Given the description of an element on the screen output the (x, y) to click on. 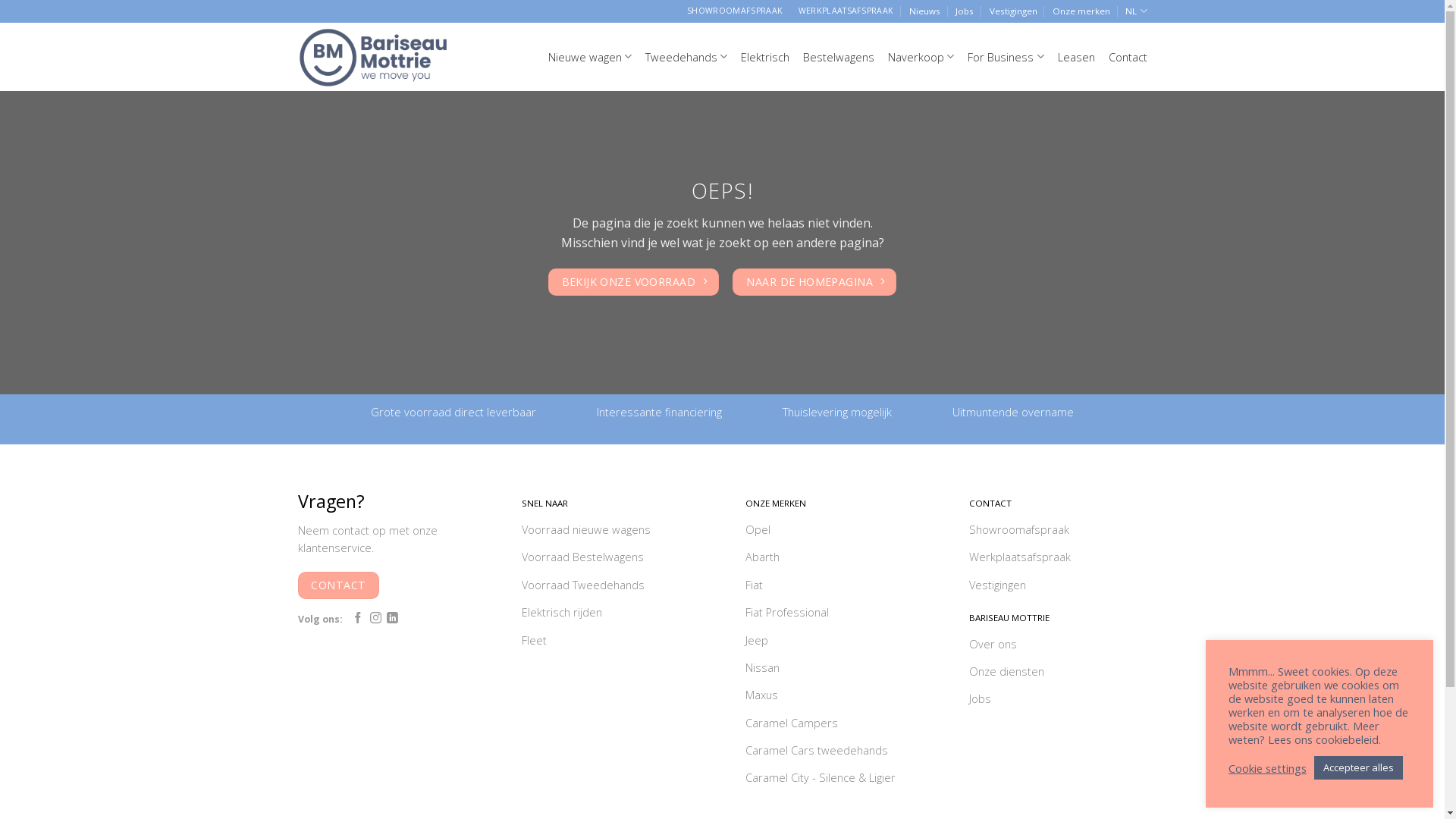
Showroomafspraak Element type: text (1058, 531)
Voorraad Tweedehands Element type: text (610, 585)
Fleet Element type: text (610, 641)
SHOWROOMAFSPRAAK Element type: text (734, 10)
Accepteer alles Element type: text (1358, 767)
Follow on LinkedIn Element type: hover (392, 618)
Maxus Element type: text (833, 696)
Over ons Element type: text (1058, 644)
Fiat Element type: text (833, 585)
Jobs Element type: text (964, 11)
Contact Element type: text (1127, 56)
NAAR DE HOMEPAGINA Element type: text (814, 281)
Follow on Facebook Element type: hover (358, 618)
CONTACT Element type: text (338, 585)
Bestelwagens Element type: text (838, 56)
Voorraad nieuwe wagens Element type: text (610, 531)
Fiat Professional Element type: text (833, 613)
Follow on Instagram Element type: hover (375, 618)
Elektrisch rijden Element type: text (610, 613)
Onze merken Element type: text (1081, 11)
Caramel Cars tweedehands Element type: text (833, 751)
WERKPLAATSAFSPRAAK Element type: text (845, 10)
Naverkoop Element type: text (920, 56)
BEKIJK ONZE VOORRAAD Element type: text (633, 281)
Bariseau Mottrie - we move you Element type: hover (372, 56)
Abarth Element type: text (833, 558)
Elektrisch Element type: text (764, 56)
Jeep Element type: text (833, 641)
Vestigingen Element type: text (1058, 585)
Caramel Campers Element type: text (833, 723)
Nissan Element type: text (833, 669)
Nieuwe wagen Element type: text (589, 56)
Leasen Element type: text (1075, 56)
NL Element type: text (1135, 11)
Jobs Element type: text (1058, 700)
Vestigingen Element type: text (1013, 11)
Voorraad Bestelwagens Element type: text (610, 558)
Caramel City - Silence & Ligier Element type: text (833, 779)
Onze diensten Element type: text (1058, 673)
Opel Element type: text (833, 531)
For Business Element type: text (1005, 56)
Nieuws Element type: text (924, 11)
Tweedehands Element type: text (686, 56)
Cookie settings Element type: text (1267, 768)
Werkplaatsafspraak Element type: text (1058, 558)
